Given the description of an element on the screen output the (x, y) to click on. 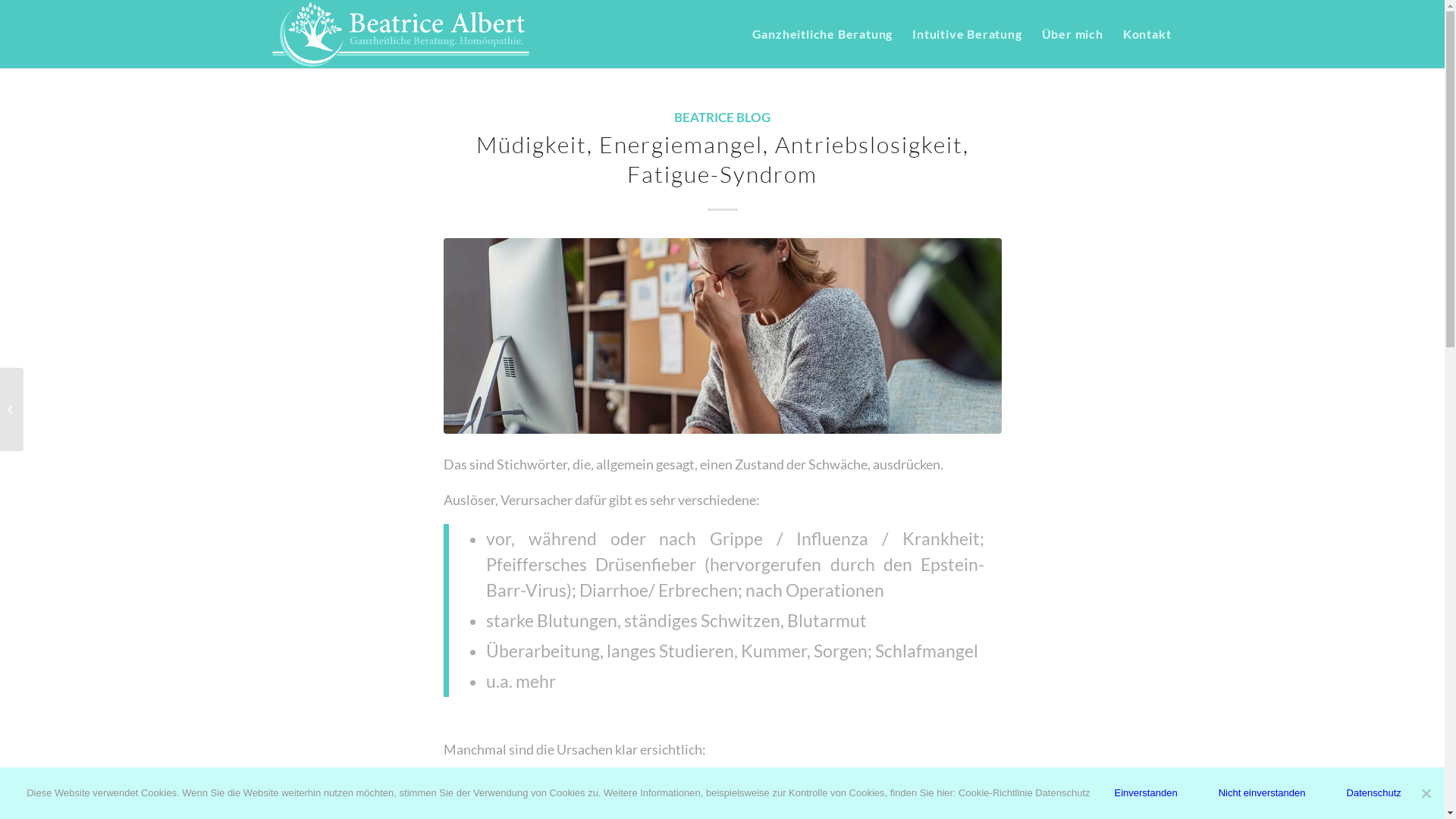
Nicht einverstanden Element type: hover (1425, 792)
Einverstanden Element type: text (1146, 792)
Datenschutz Element type: text (1374, 792)
Kontakt Element type: text (1147, 34)
Intuitive Beratung Element type: text (966, 34)
Nicht einverstanden Element type: text (1261, 792)
Ganzheitliche Beratung Element type: text (822, 34)
BEATRICE BLOG Element type: text (722, 117)
